Given the description of an element on the screen output the (x, y) to click on. 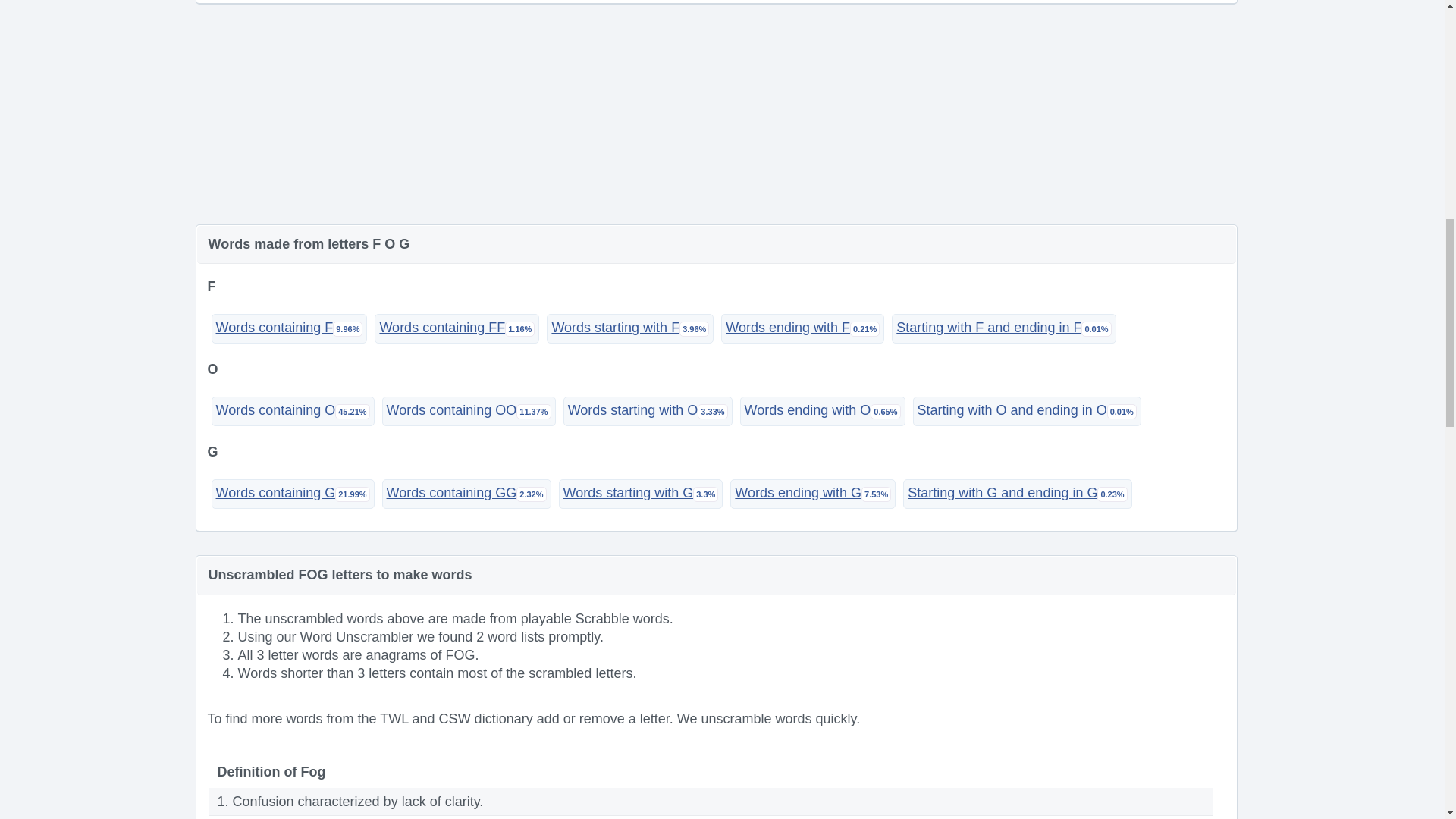
Starting with F and ending in F (1003, 328)
Words containing O (292, 410)
Words starting with O (647, 410)
Words containing G (292, 493)
Words starting with F (630, 328)
Words containing OO (468, 410)
Words containing GG (466, 493)
Words ending with O (822, 410)
Words starting with G (641, 493)
Words containing F (288, 328)
Starting with O and ending in O (1026, 410)
Words containing FF (456, 328)
Starting with G and ending in G (1016, 493)
Words ending with G (812, 493)
Words ending with F (801, 328)
